Given the description of an element on the screen output the (x, y) to click on. 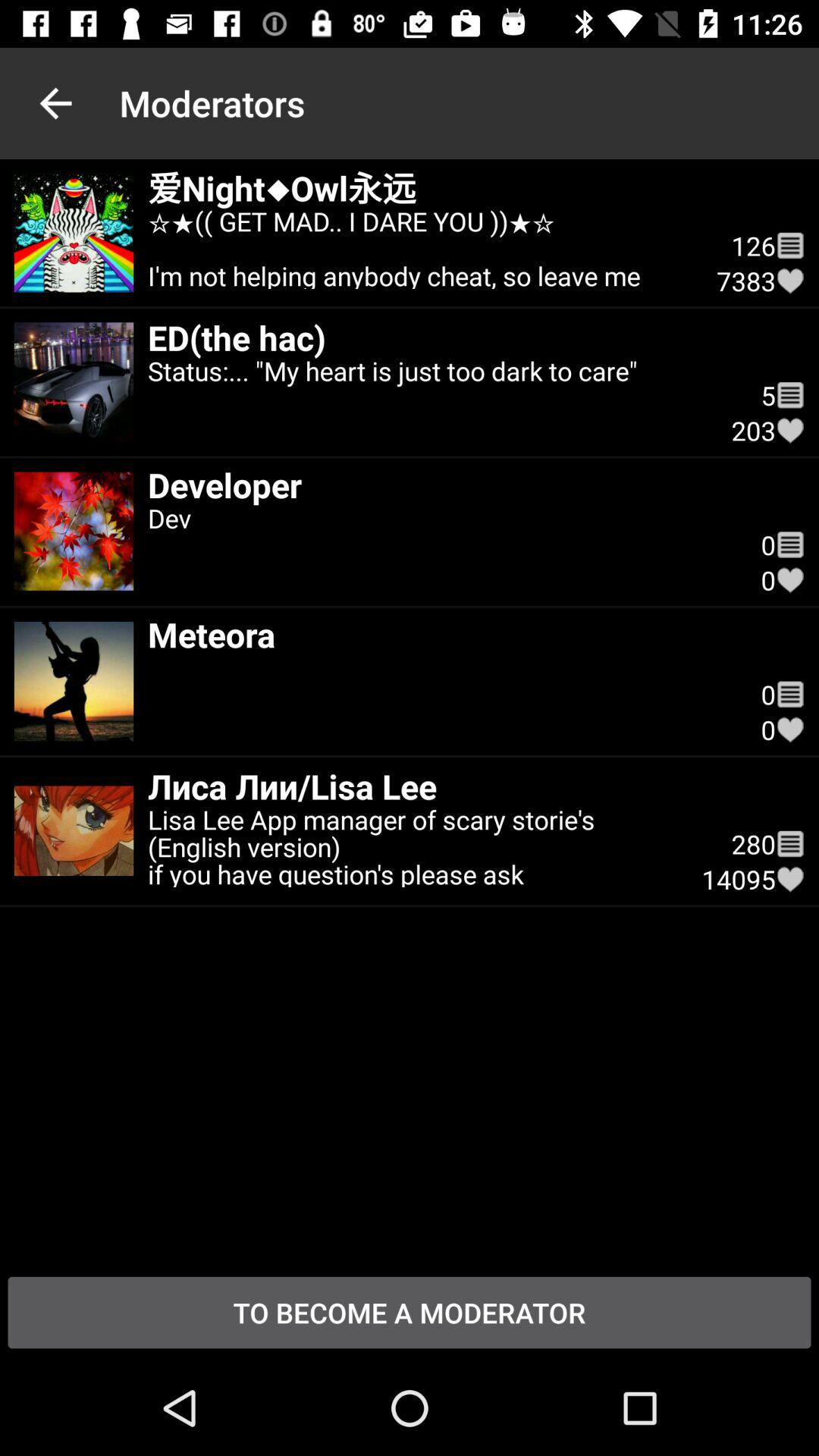
turn off item below the 203 icon (789, 544)
